Given the description of an element on the screen output the (x, y) to click on. 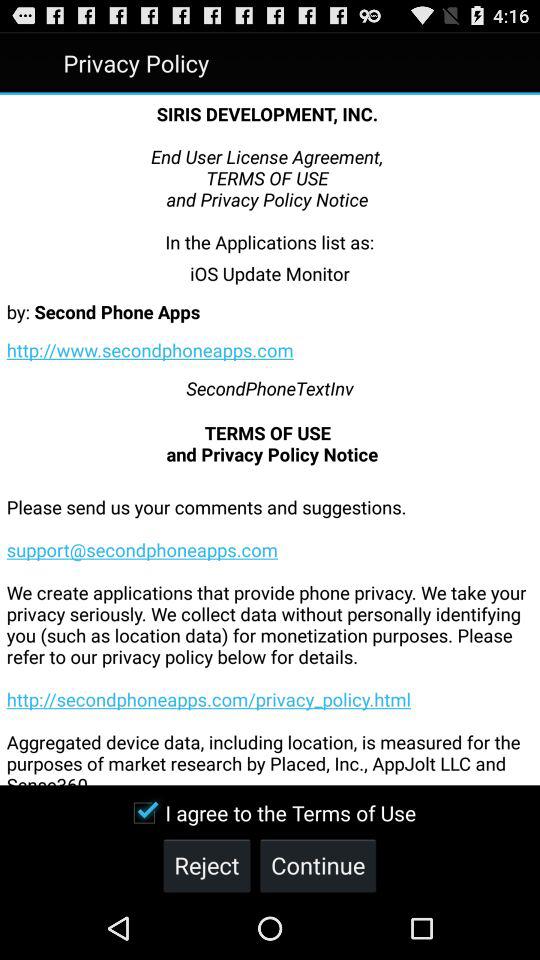
select checkbox below i agree to (206, 864)
